Given the description of an element on the screen output the (x, y) to click on. 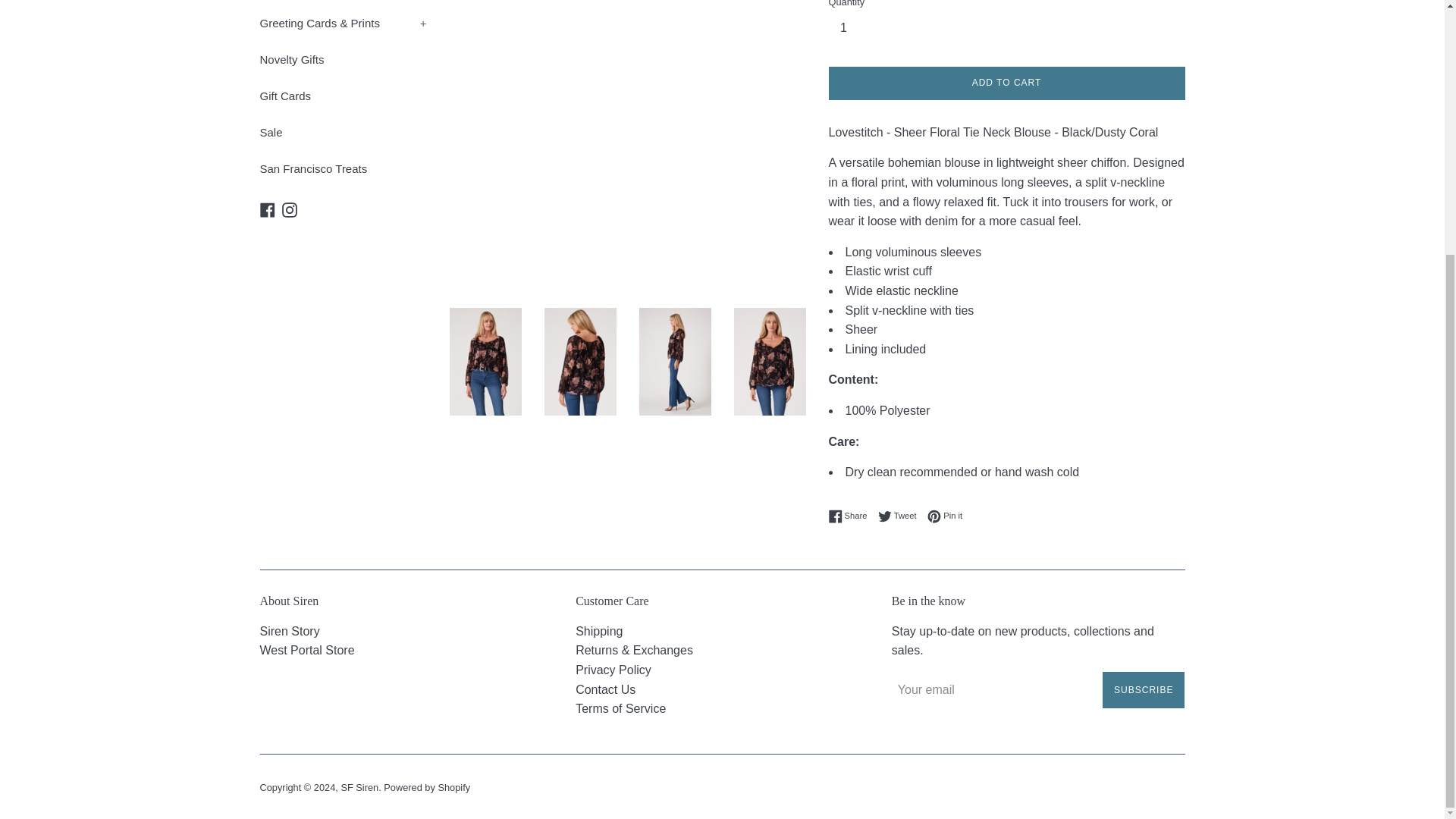
SF Siren on Instagram (289, 208)
1 (848, 28)
Tweet on Twitter (900, 516)
Share on Facebook (851, 516)
SF Siren on Facebook (267, 208)
Pin on Pinterest (944, 516)
